Given the description of an element on the screen output the (x, y) to click on. 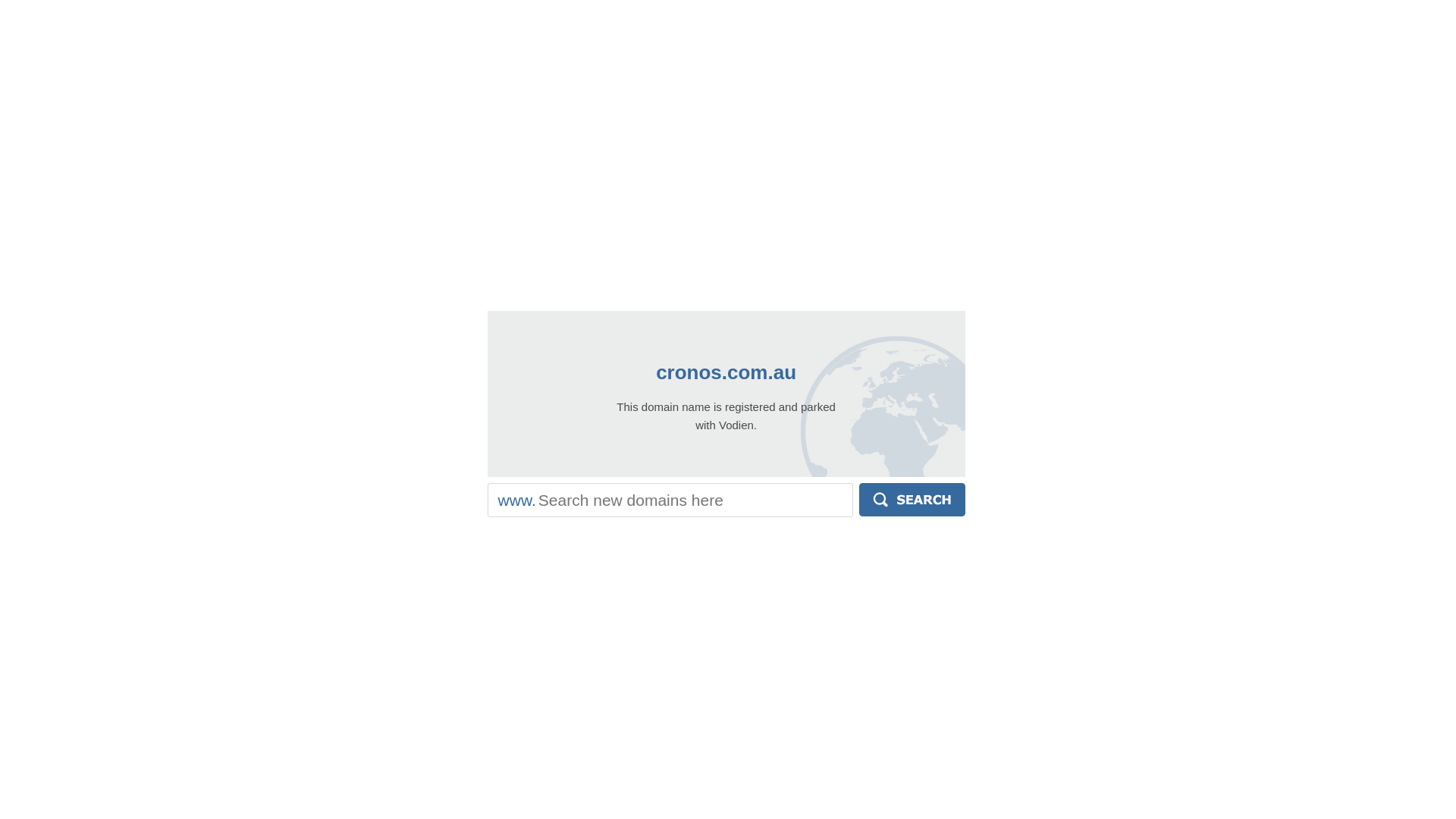
Search Element type: text (912, 499)
